Given the description of an element on the screen output the (x, y) to click on. 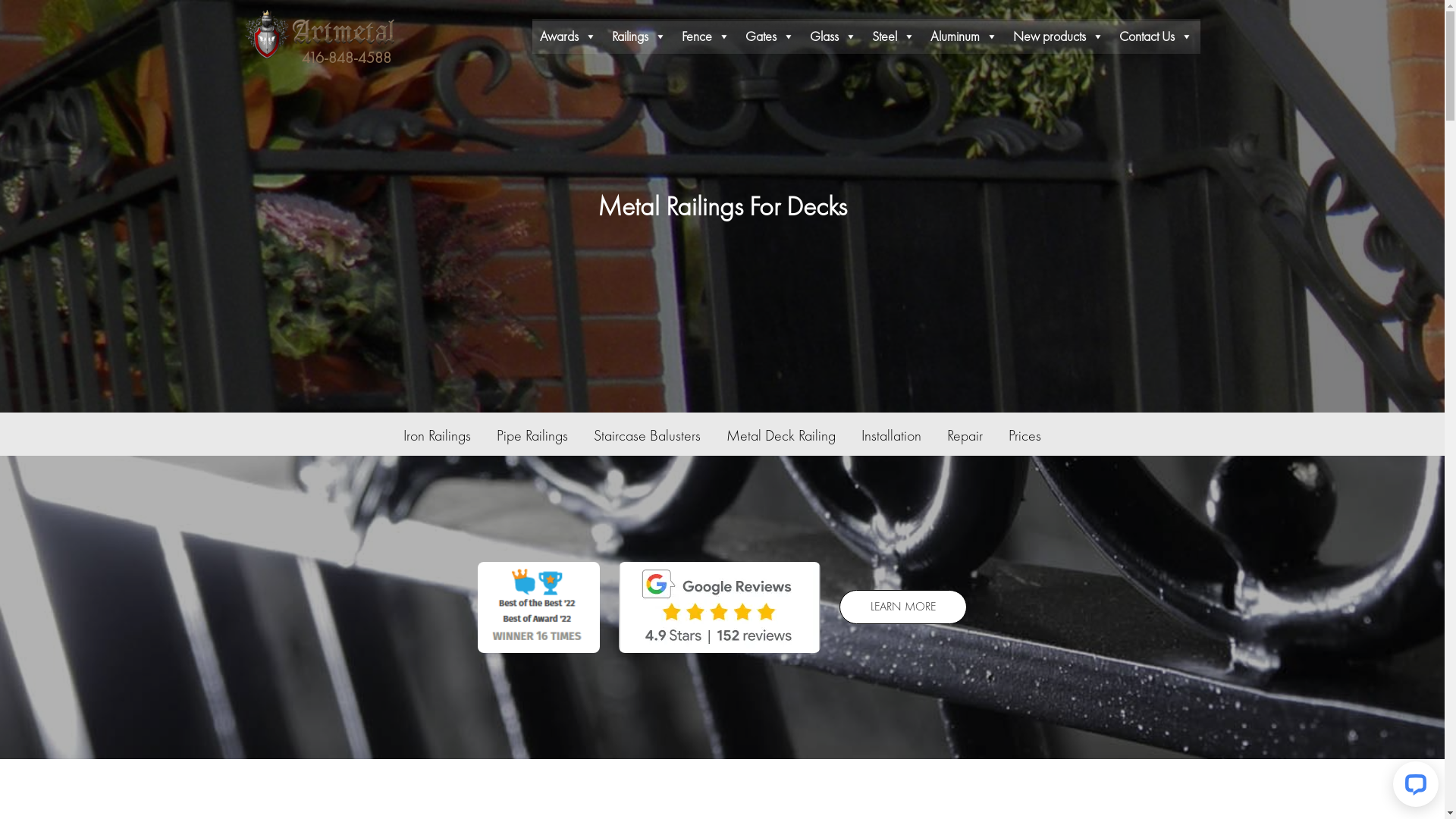
Fence Element type: text (705, 36)
Staircase Balusters Element type: text (646, 435)
Aluminum Element type: text (963, 36)
Metal Deck Railing Element type: text (780, 435)
Contact Us Element type: text (1155, 36)
416-848-4588 Element type: text (346, 58)
Awards Element type: text (568, 36)
Pipe Railings Element type: text (531, 435)
Gates Element type: text (769, 36)
Steel Element type: text (893, 36)
New products Element type: text (1058, 36)
Installation Element type: text (891, 435)
Iron Railings Element type: text (436, 435)
Glass Element type: text (833, 36)
LEARN MORE Element type: text (902, 606)
Prices Element type: text (1024, 435)
Repair Element type: text (964, 435)
Railings Element type: text (638, 36)
